Given the description of an element on the screen output the (x, y) to click on. 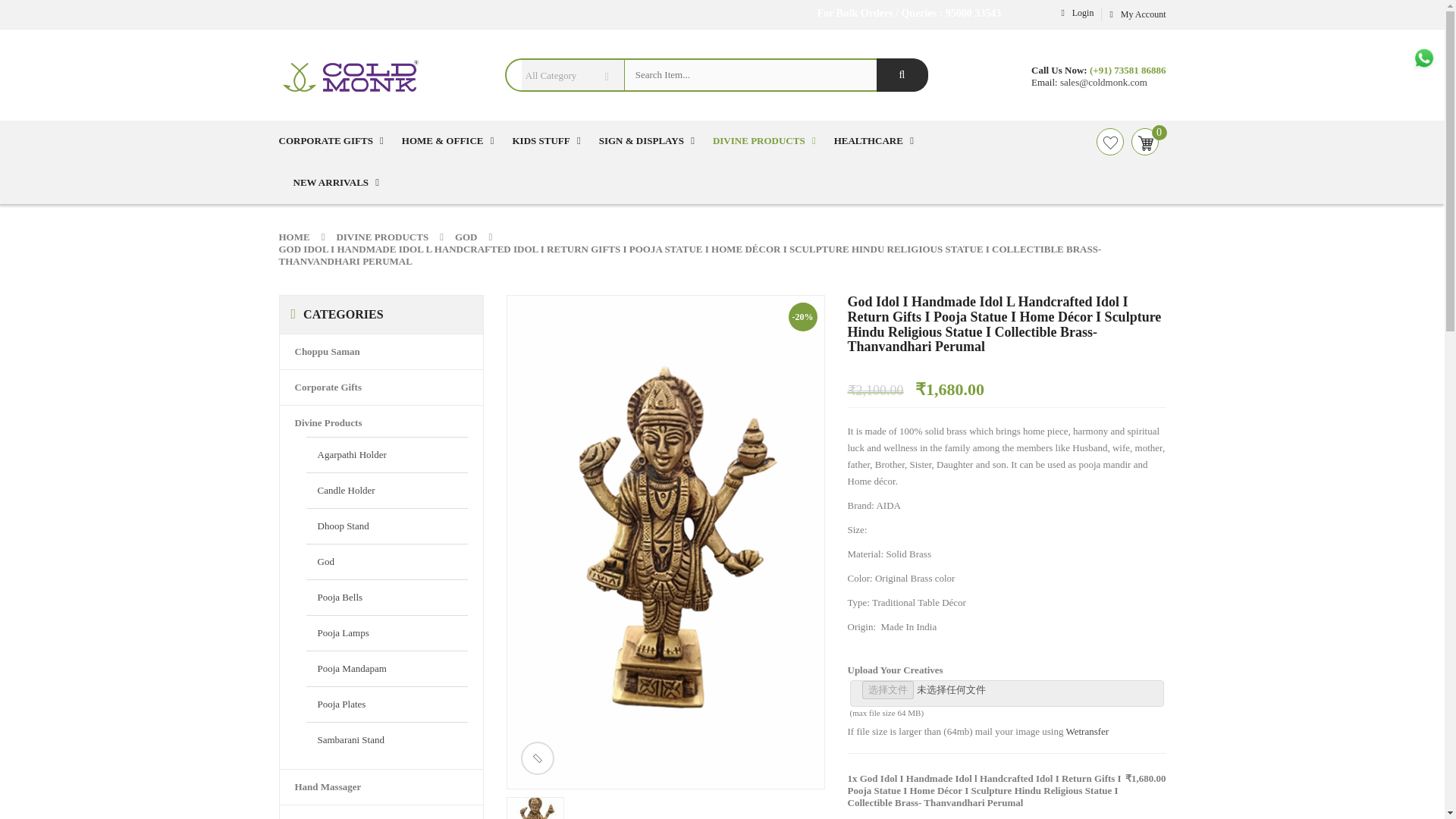
1 (858, 757)
Login (1074, 12)
Qty (858, 757)
